Given the description of an element on the screen output the (x, y) to click on. 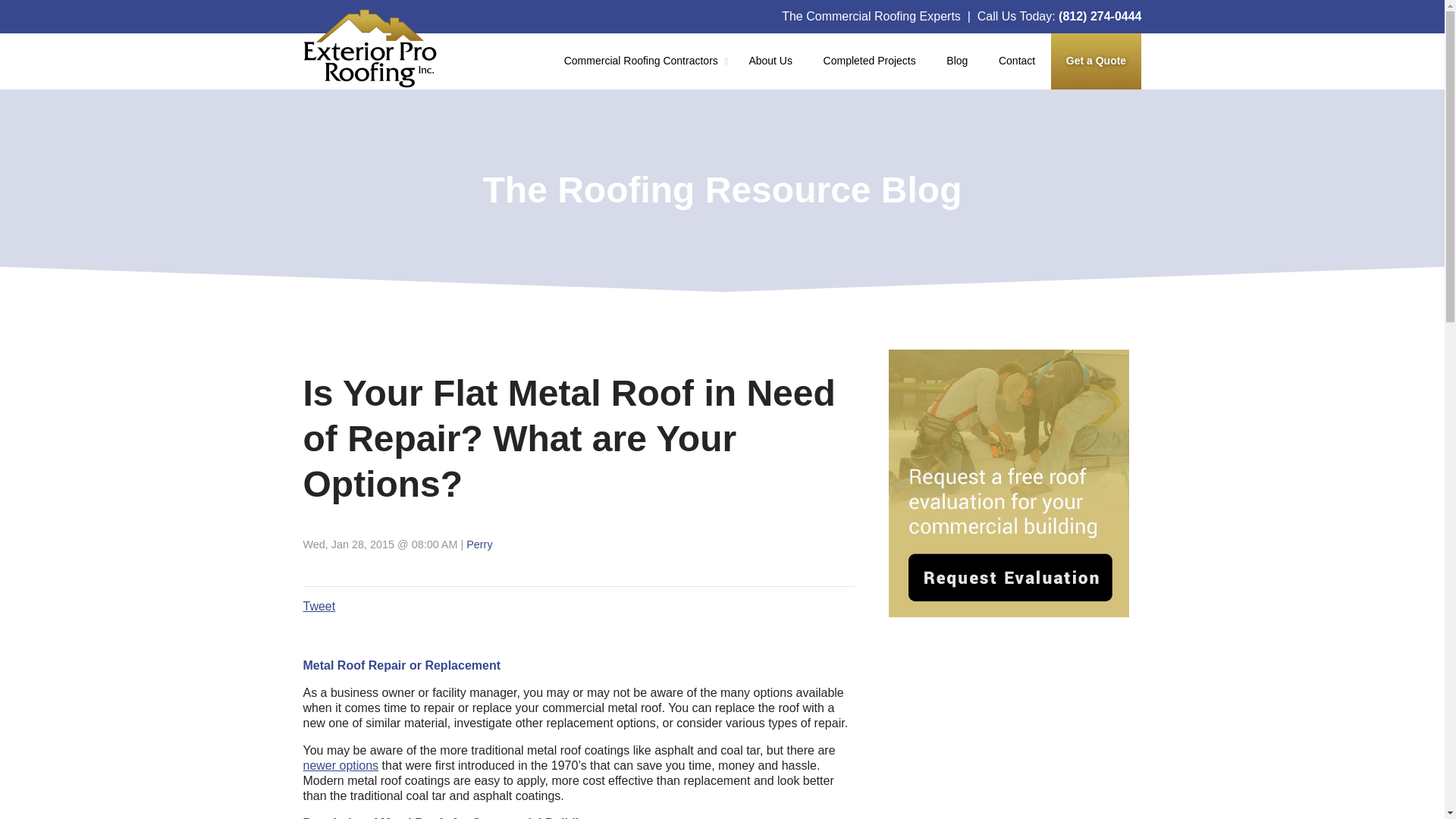
About Us (770, 61)
Commercial Roofing Contractors (640, 61)
Get a Quote (1096, 61)
newer options (340, 765)
Contact (1017, 61)
Completed Projects (869, 61)
Exterior Pro Roofing, Inc. (369, 48)
Perry (478, 544)
Blog (957, 61)
Tweet (319, 605)
